Given the description of an element on the screen output the (x, y) to click on. 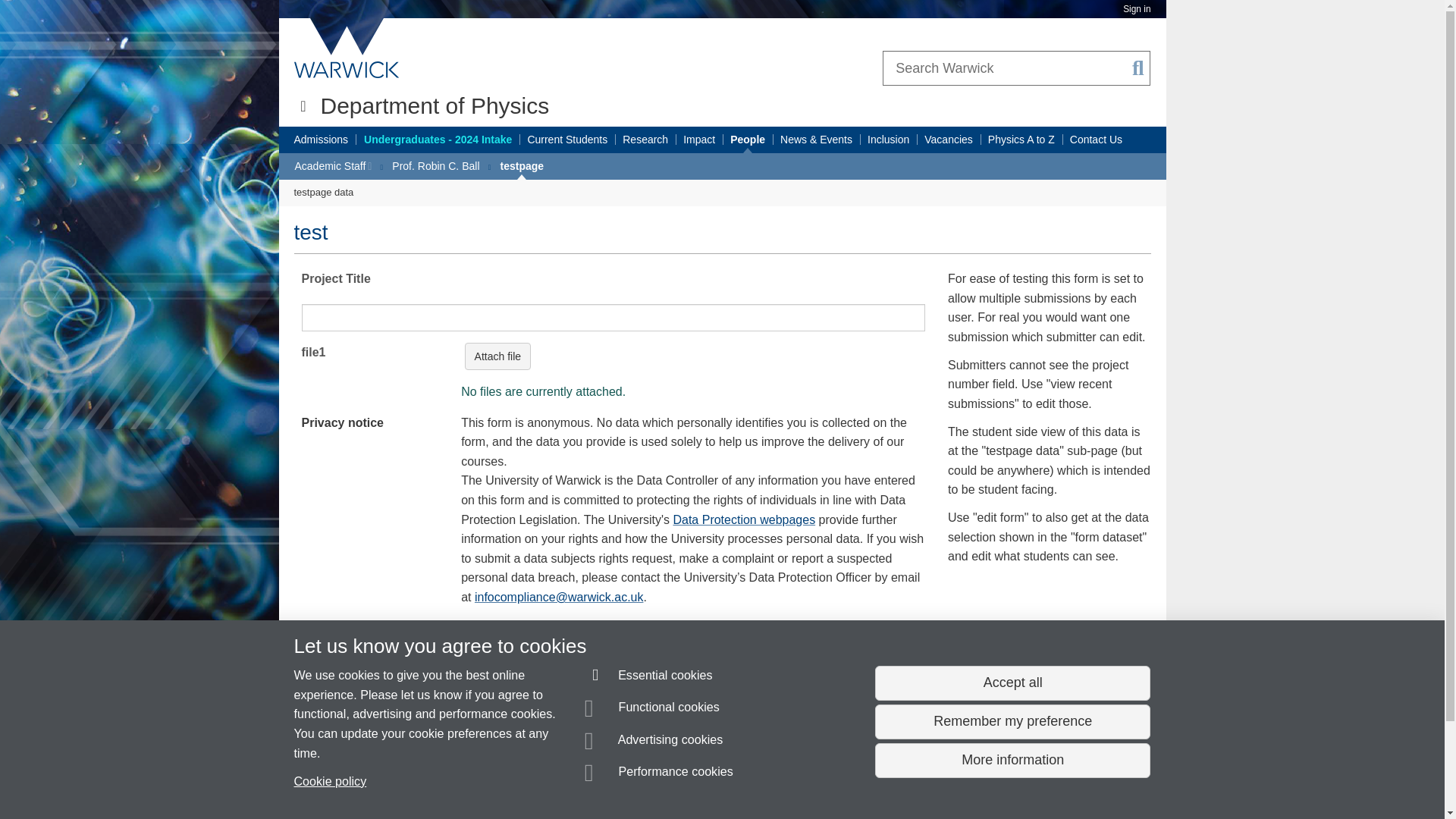
Research (645, 139)
University of Warwick homepage (346, 48)
Undergraduates - 2024 Intake (438, 139)
Essential cookies are always on (649, 677)
Impact (698, 139)
Current Students (567, 139)
Admissions (321, 139)
